Given the description of an element on the screen output the (x, y) to click on. 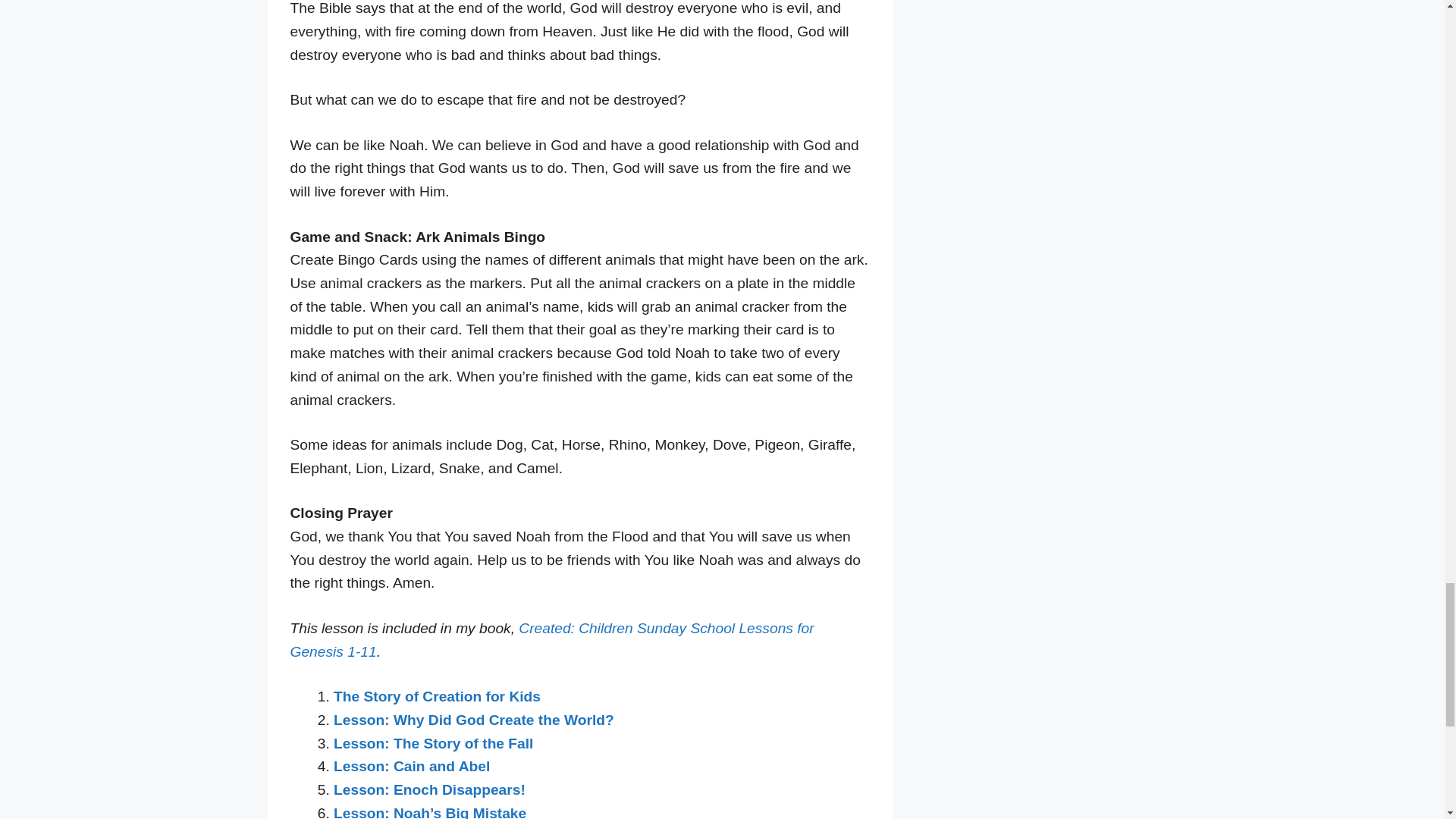
Lesson: Why Did God Create the World? (473, 719)
Lesson: Cain and Abel (411, 765)
Lesson: Why Did God Create the World? (473, 719)
Lesson: The Story of the Fall (432, 743)
Lesson: Cain and Abel (411, 765)
Lesson: The Story of the Fall (432, 743)
Created: Children Sunday School Lessons for Genesis 1-11 (551, 639)
Lesson: Enoch Disappears! (429, 789)
The Story of Creation for Kids (436, 696)
Lesson: Enoch Disappears! (429, 789)
The Story of Creation for Kids (436, 696)
